Given the description of an element on the screen output the (x, y) to click on. 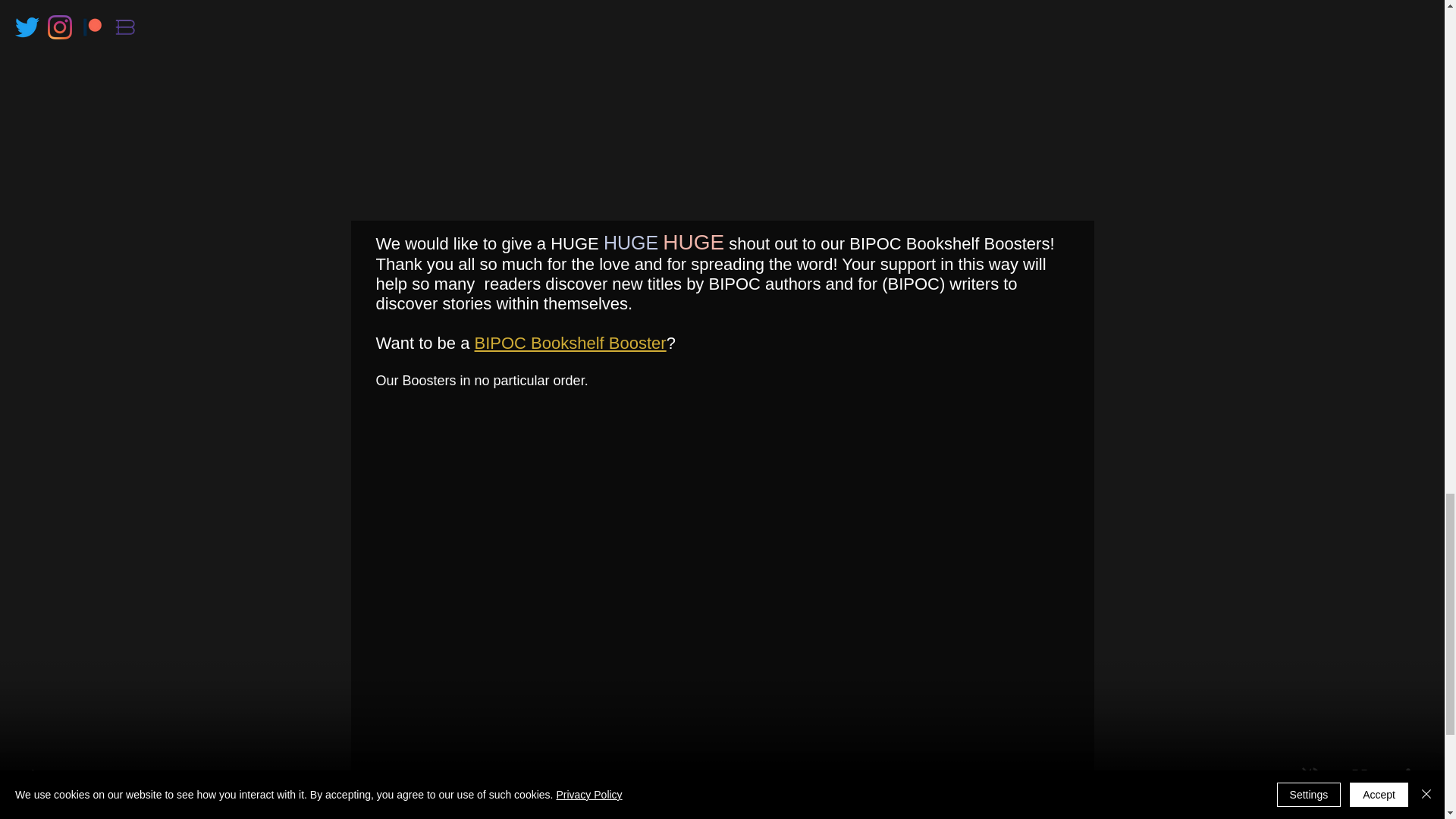
BIPOC Bookshelf Booster (570, 342)
